Given the description of an element on the screen output the (x, y) to click on. 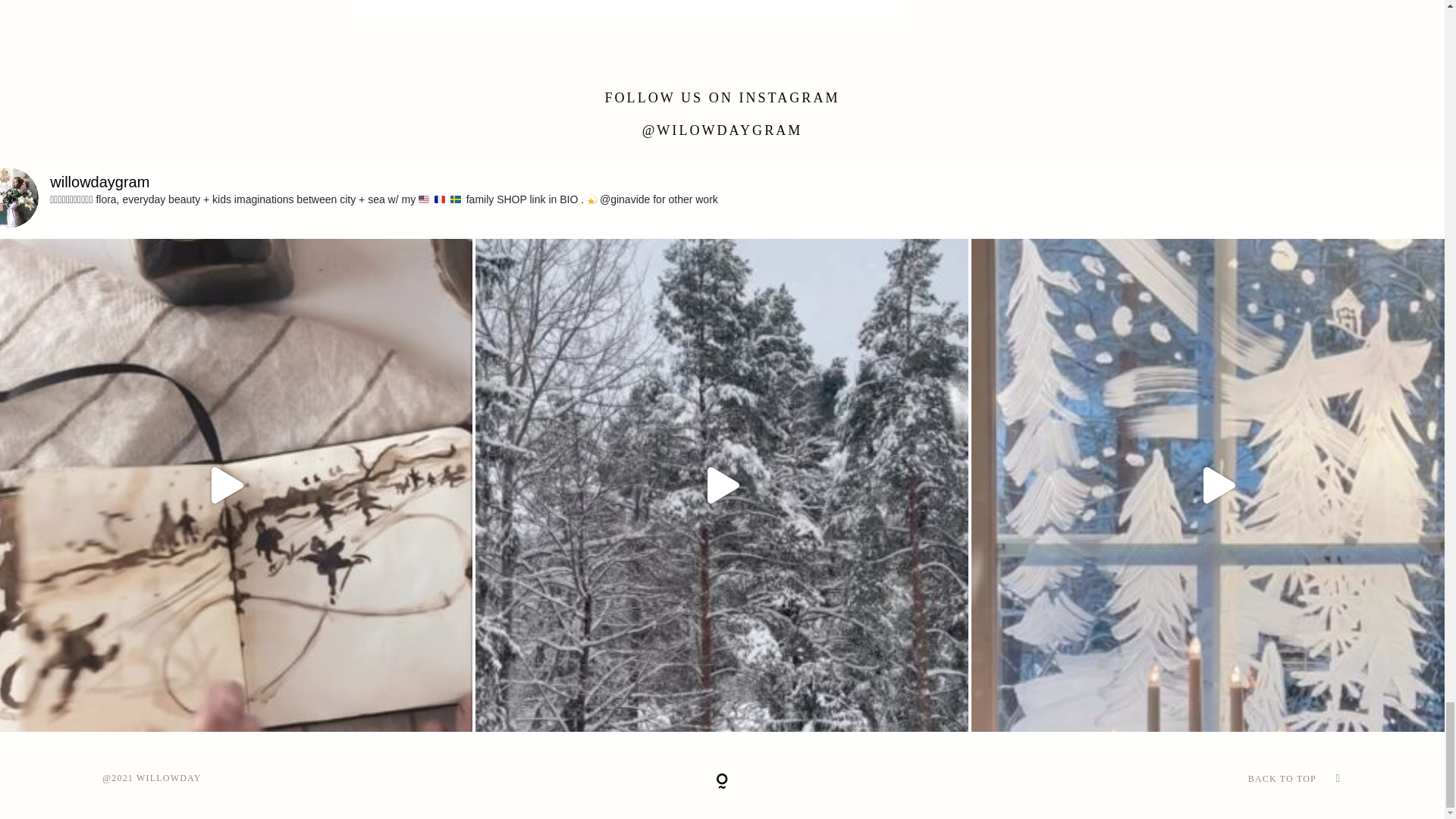
BACK TO TOP (1281, 777)
Sorry, your browser does not support inline SVG. (721, 781)
BACK TO TOP (1135, 778)
